Given the description of an element on the screen output the (x, y) to click on. 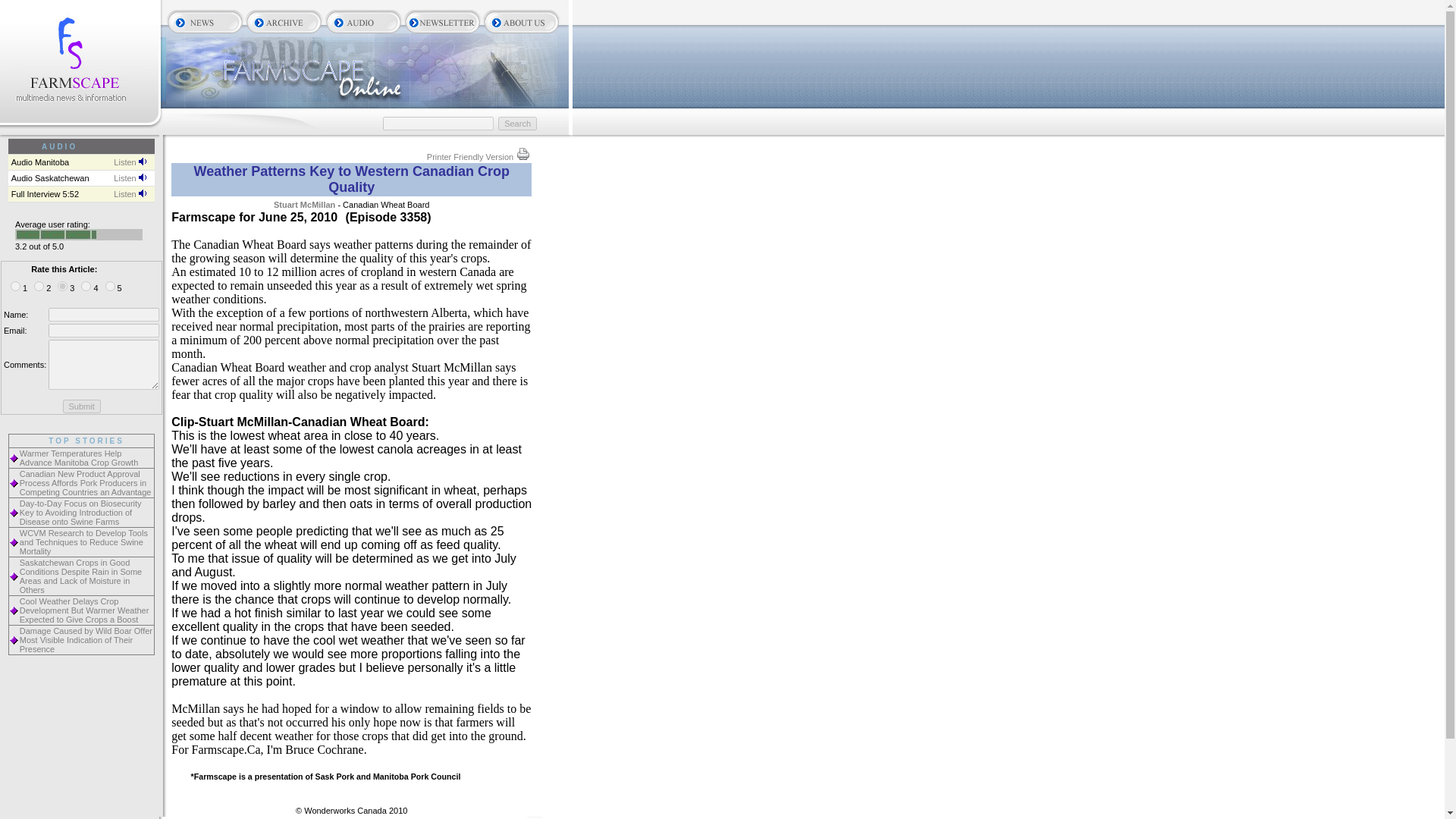
Listen (129, 194)
5 (109, 286)
3 (62, 286)
Listen (129, 162)
4 (85, 286)
Stuart McMillan (303, 204)
2 (38, 286)
Submit (81, 406)
Submit (81, 406)
Printer Friendly Version (478, 156)
